Given the description of an element on the screen output the (x, y) to click on. 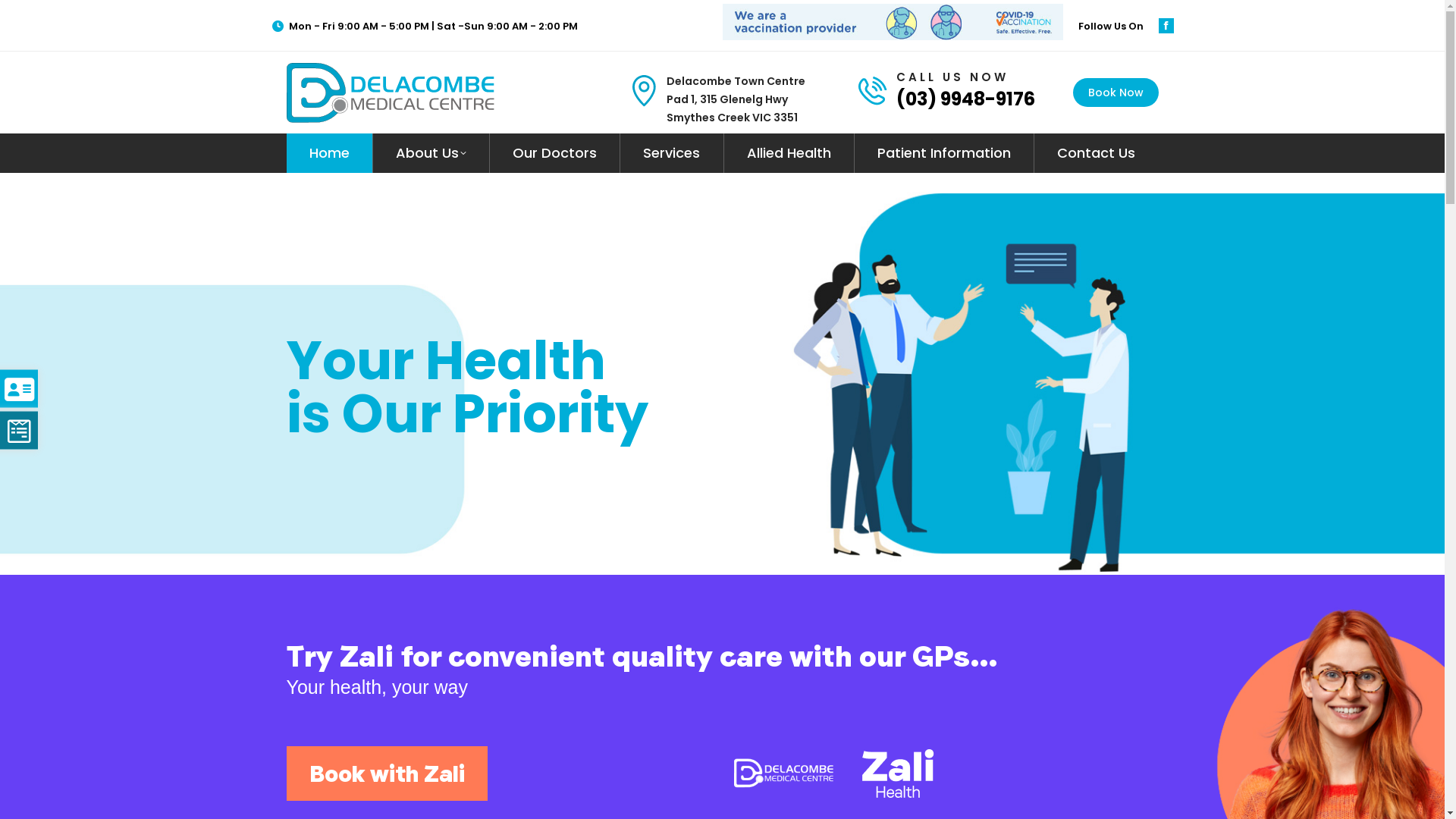
Book Now Element type: text (1114, 92)
Allied Health Element type: text (788, 152)
Contact Us Element type: text (1095, 152)
Delacombe MC-Web-banner-desktop-logo only Element type: hover (834, 773)
Patient Information Element type: text (943, 152)
Facebook page opens in new window Element type: text (1165, 25)
Book with Zali Element type: text (386, 773)
Our Doctors Element type: text (554, 152)
Services Element type: text (671, 152)
Home Element type: text (329, 152)
(03) 9948-9176 Element type: text (965, 98)
About Us Element type: text (431, 152)
